Given the description of an element on the screen output the (x, y) to click on. 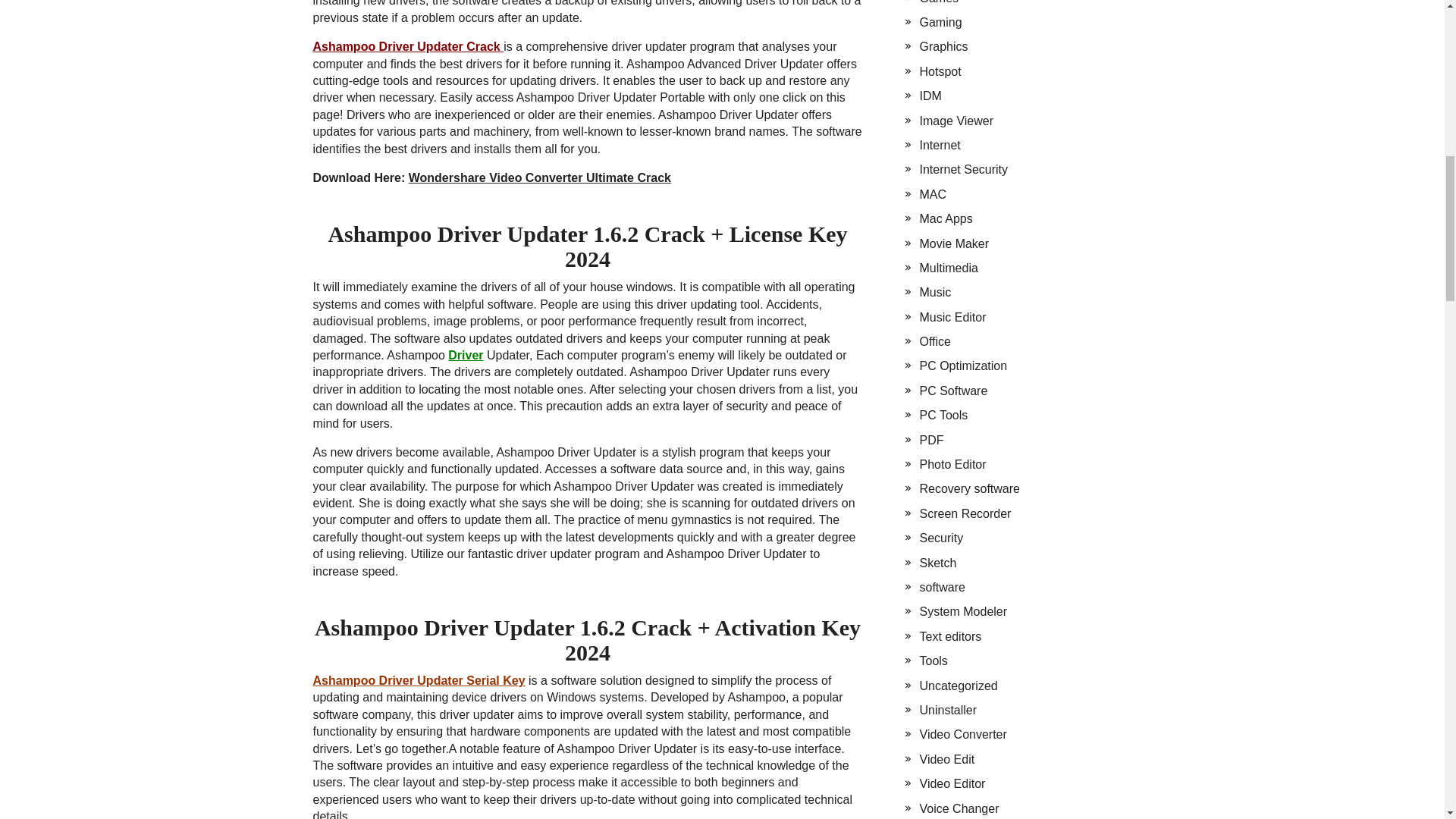
Ashampoo Driver Updater Crack (408, 46)
Wondershare Video Converter Ultimate Crack (540, 177)
Ashampoo Driver Updater Serial Key (418, 680)
Driver (465, 354)
